Given the description of an element on the screen output the (x, y) to click on. 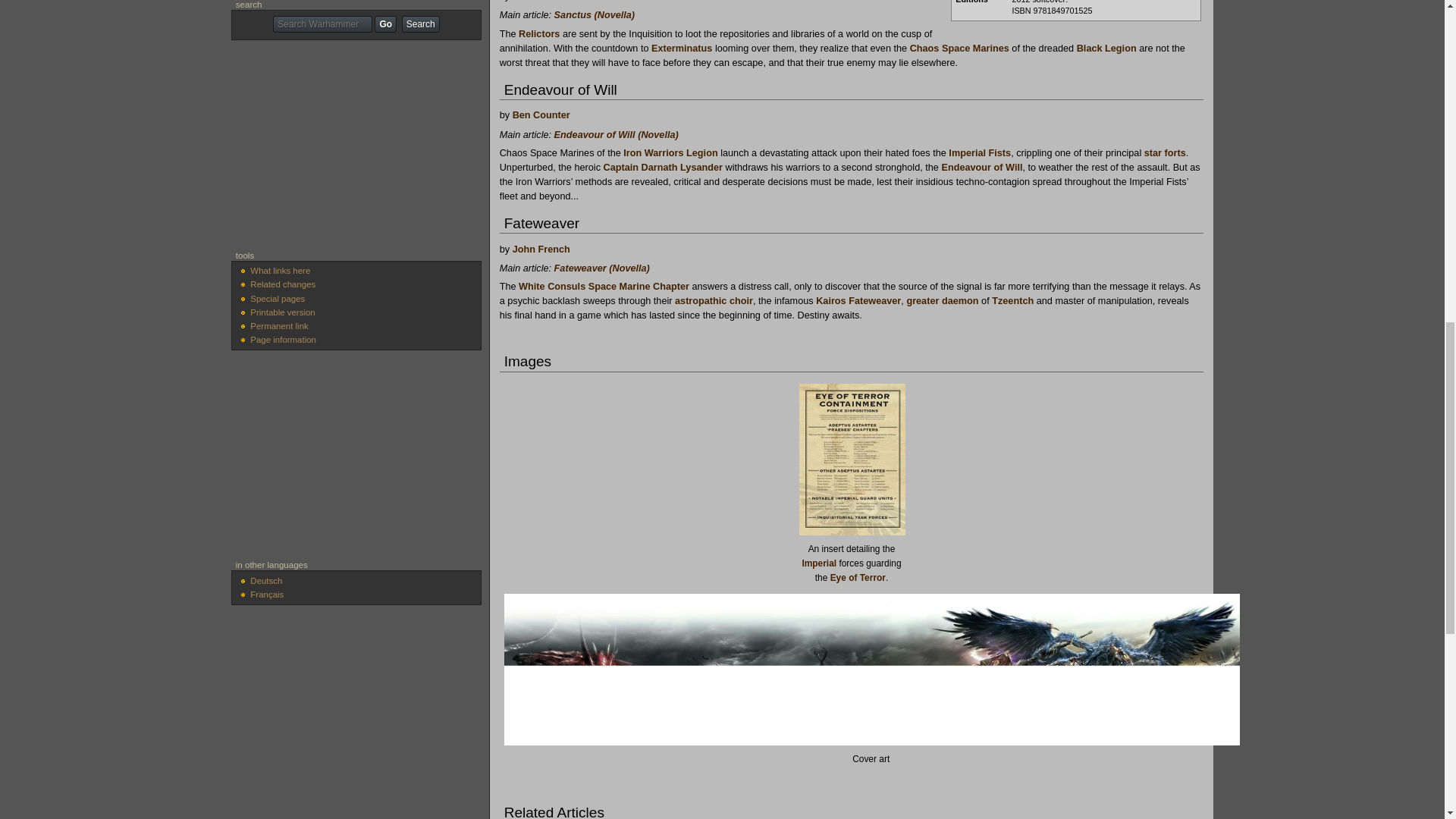
Go (385, 23)
Search (420, 23)
Search (420, 23)
Go (385, 23)
